Given the description of an element on the screen output the (x, y) to click on. 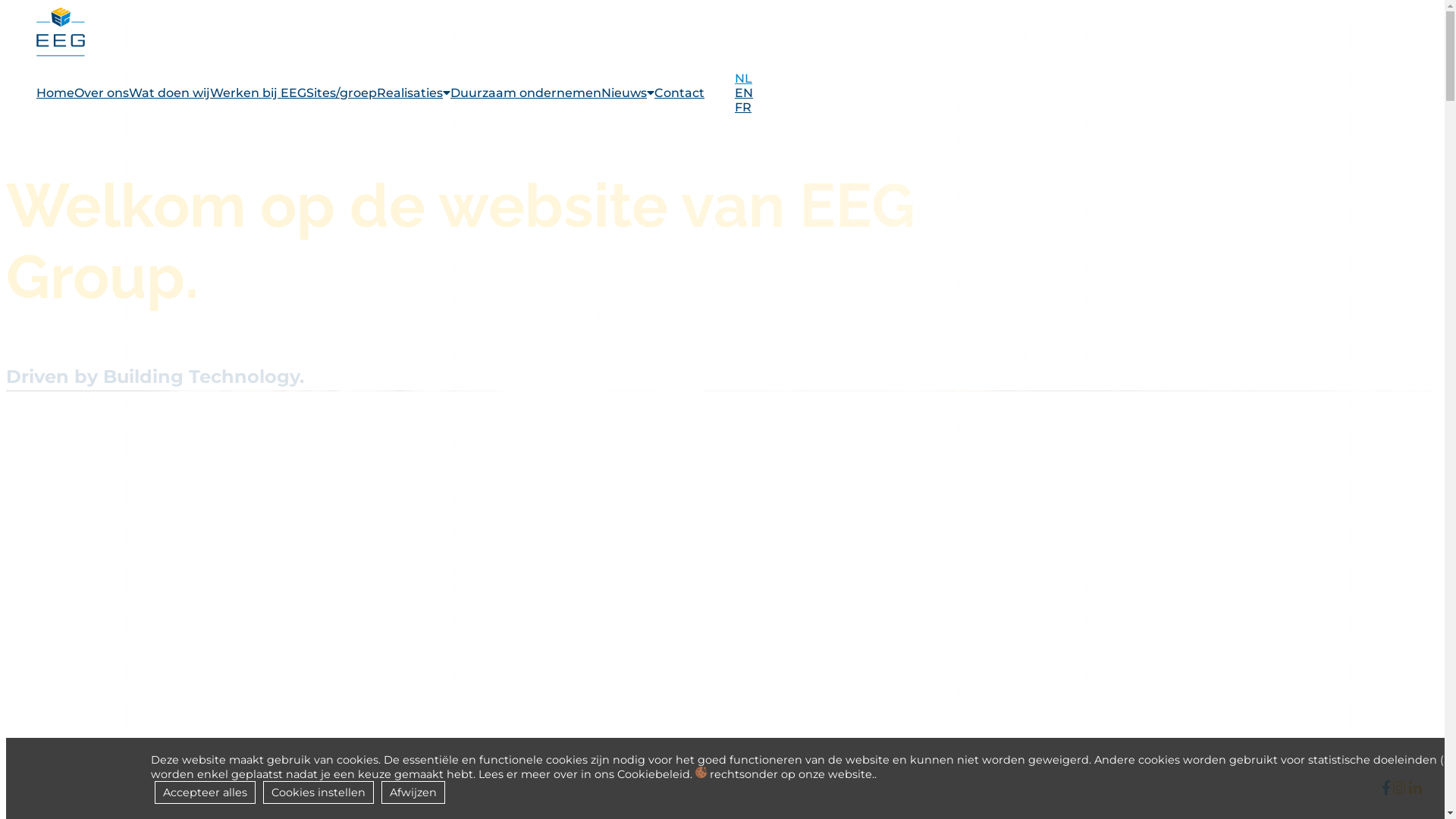
Home Element type: text (55, 92)
Wat doen wij Element type: text (169, 92)
Over ons Element type: text (101, 92)
Duurzaam ondernemen Element type: text (525, 92)
EN Element type: text (747, 92)
Contact Element type: text (679, 92)
NL Element type: text (746, 78)
Werken bij EEG Element type: text (258, 92)
Realisaties Element type: text (413, 92)
Sites/groep Element type: text (341, 92)
Nieuws Element type: text (627, 92)
FR Element type: text (746, 107)
